Given the description of an element on the screen output the (x, y) to click on. 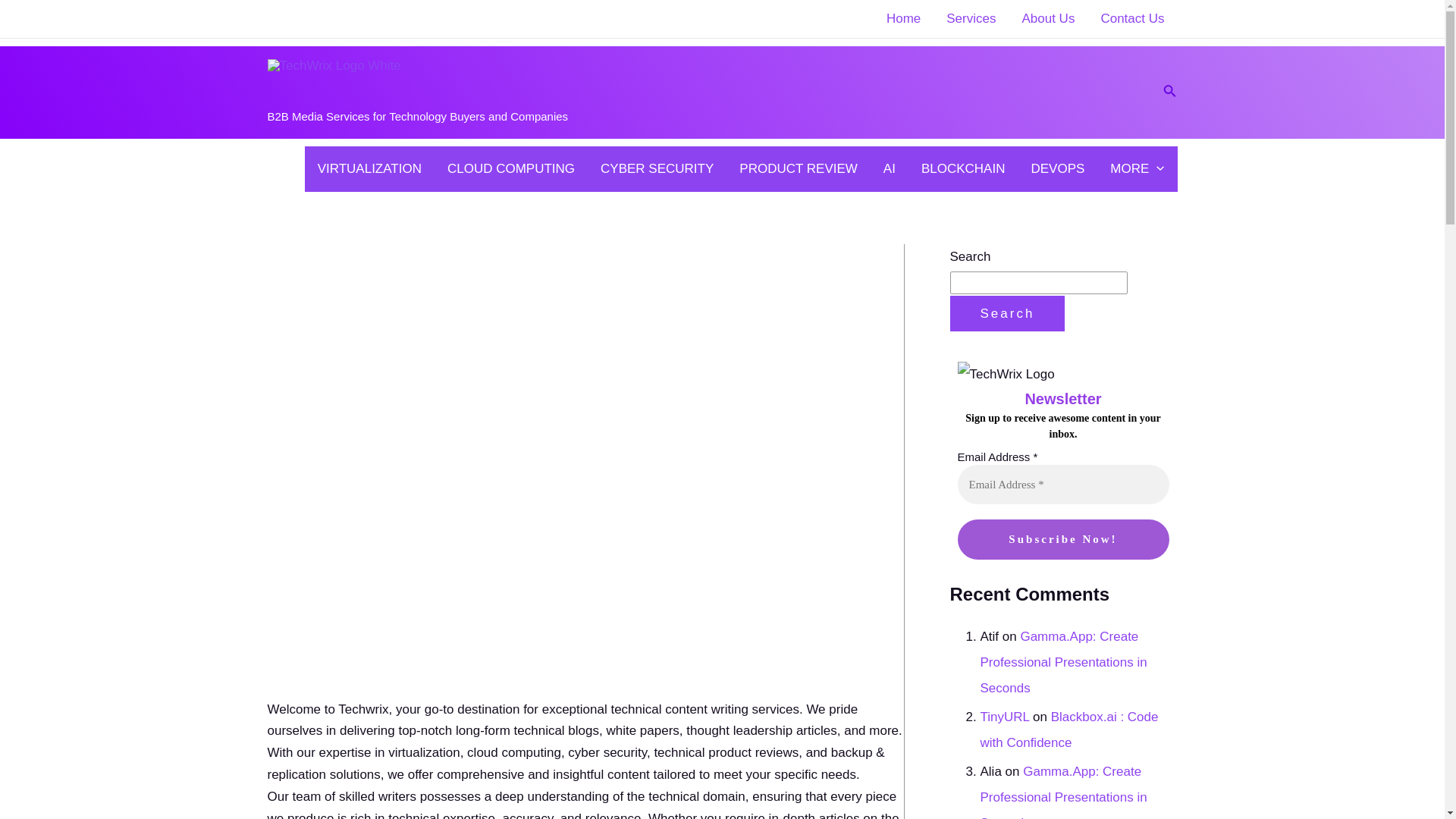
Services (971, 18)
MORE (1136, 167)
CYBER SECURITY (657, 167)
VIRTUALIZATION (368, 167)
Contact Us (1131, 18)
BLOCKCHAIN (962, 167)
Email Address (1062, 484)
Subscribe Now! (1062, 539)
Home (903, 18)
PRODUCT REVIEW (798, 167)
